Given the description of an element on the screen output the (x, y) to click on. 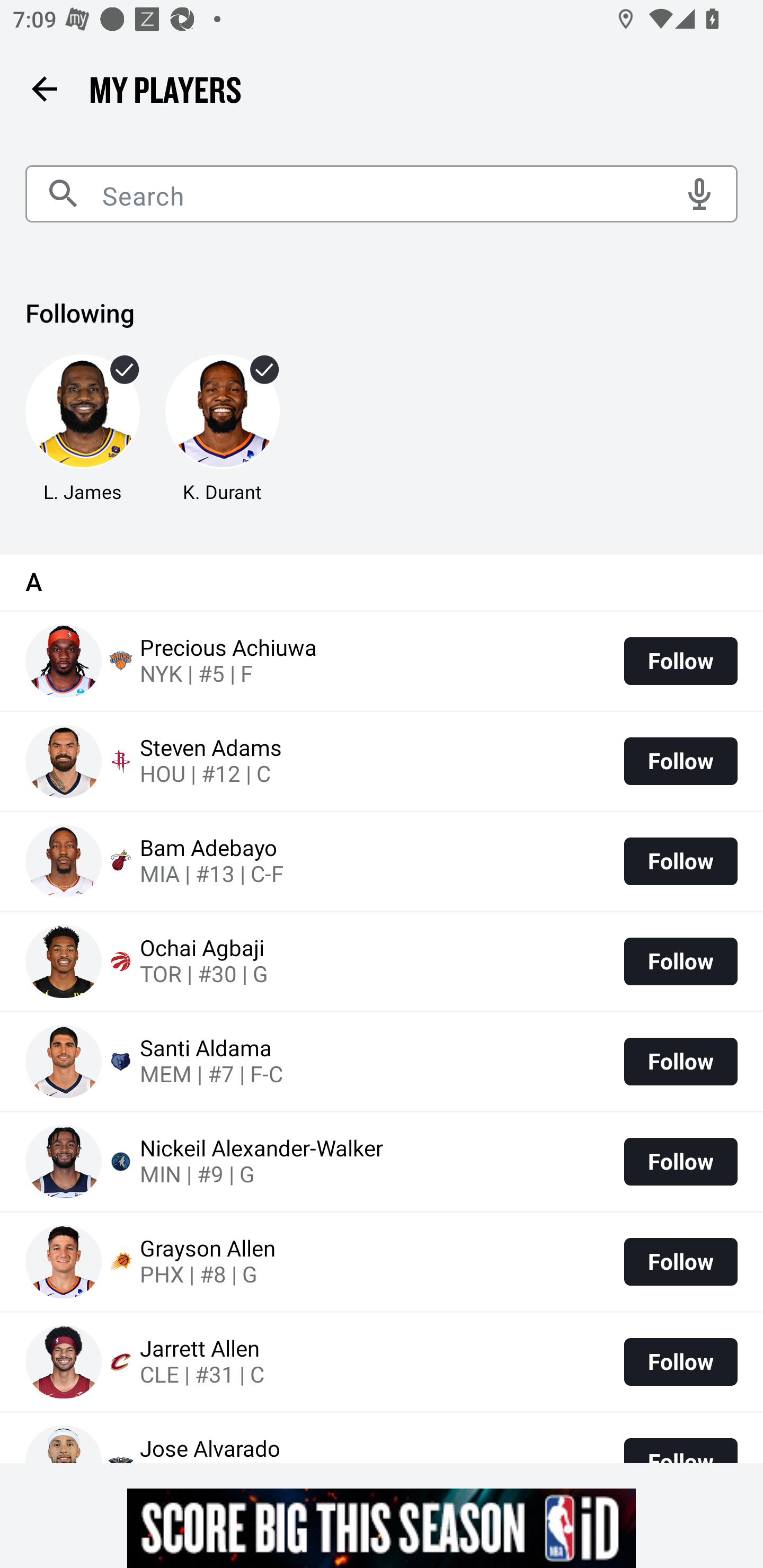
Back button (44, 88)
Search (381, 193)
Follow (680, 660)
Follow (680, 760)
Follow (680, 861)
Follow (680, 961)
Follow (680, 1061)
Follow (680, 1161)
Follow (680, 1261)
Follow (680, 1361)
g5nqqygr7owph (381, 1528)
